Given the description of an element on the screen output the (x, y) to click on. 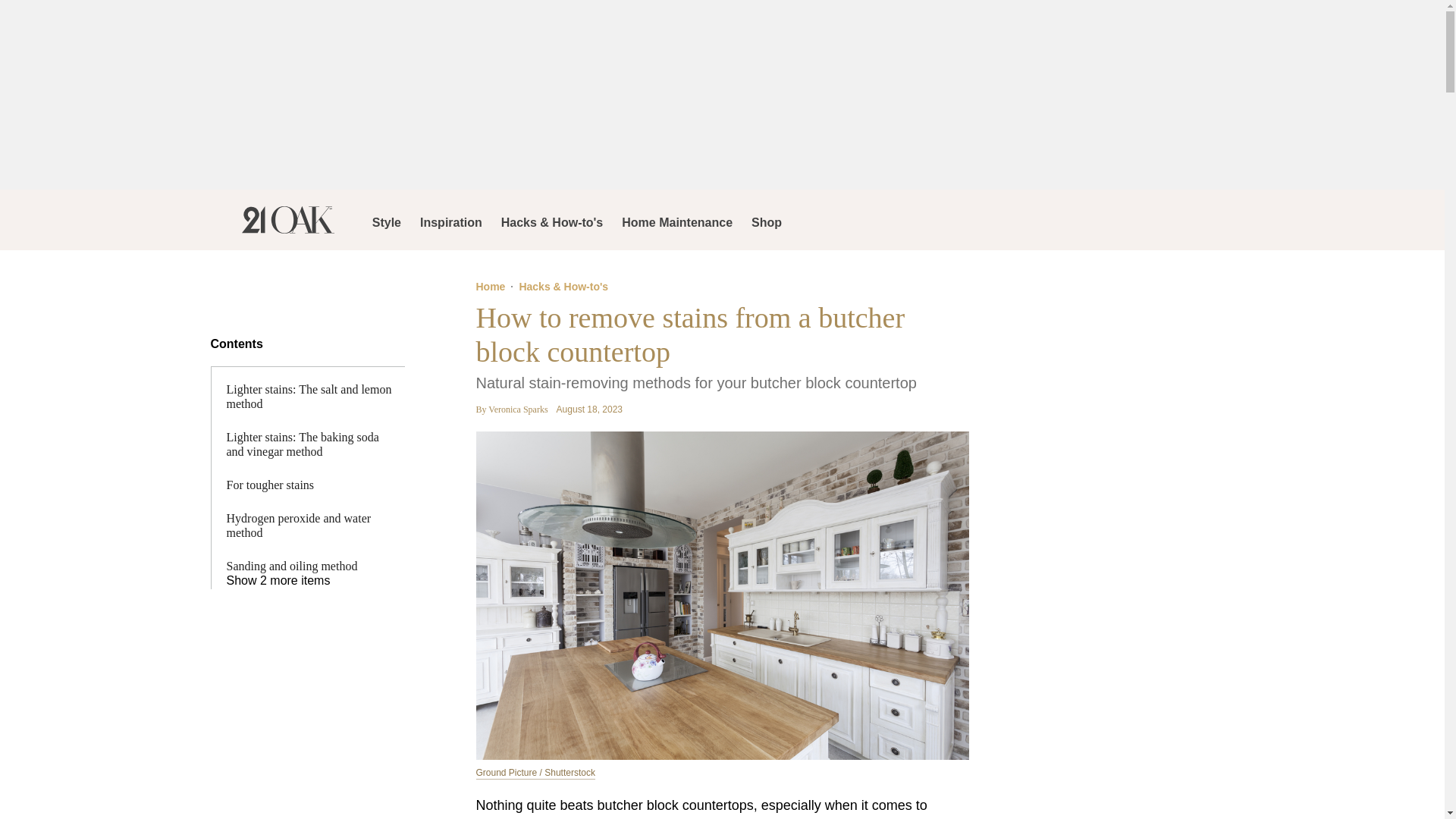
Home Maintenance (676, 219)
Inspiration (450, 219)
